Given the description of an element on the screen output the (x, y) to click on. 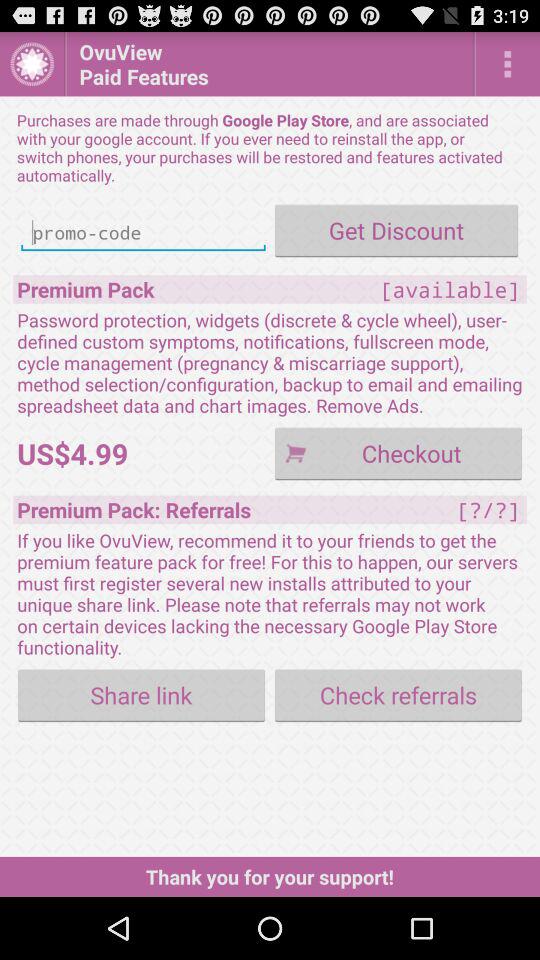
select the icon above thank you for item (398, 694)
